Given the description of an element on the screen output the (x, y) to click on. 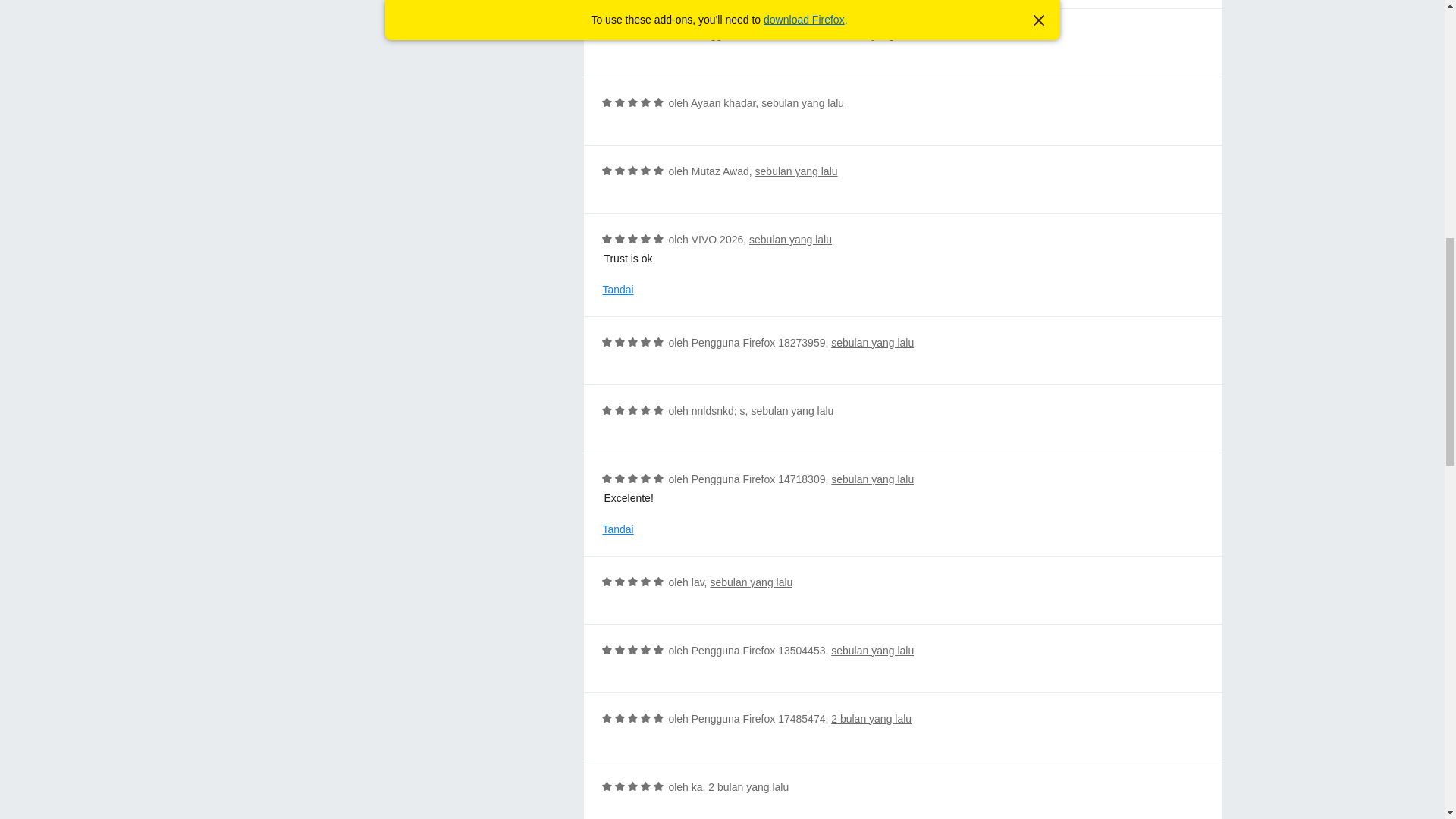
sebulan yang lalu (751, 582)
2 bulan yang lalu (871, 718)
sebulan yang lalu (796, 171)
sebulan yang lalu (872, 479)
2 bulan yang lalu (748, 787)
sebulan yang lalu (791, 410)
sebulan yang lalu (872, 342)
sebulan yang lalu (802, 102)
Tandai (617, 529)
sebulan yang lalu (872, 650)
sebulan yang lalu (790, 239)
sebulan yang lalu (872, 34)
Tandai (617, 289)
